Given the description of an element on the screen output the (x, y) to click on. 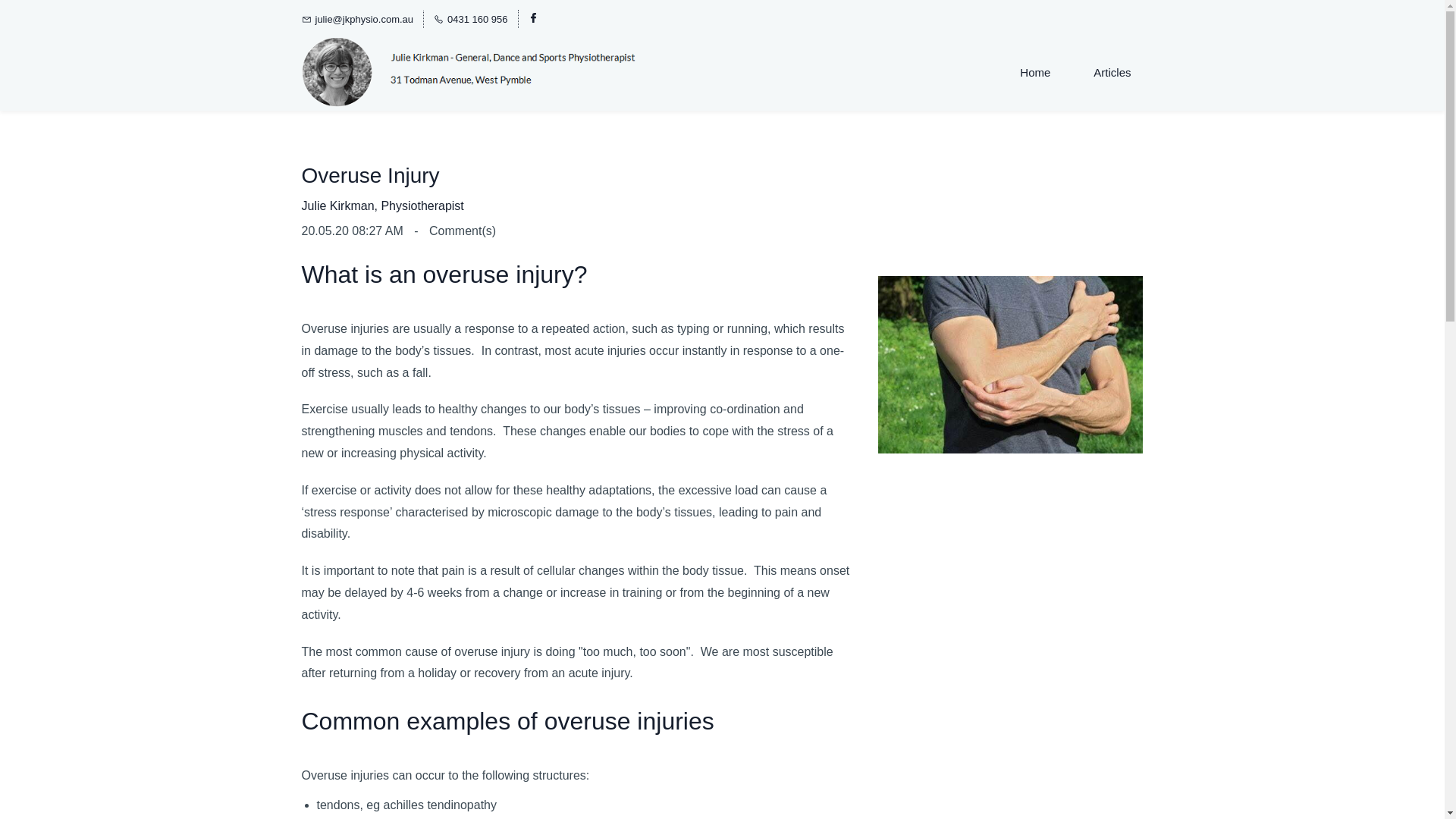
Julie Kirkman, Physiotherapist (382, 205)
0431 160 956 (470, 18)
Articles (1111, 72)
Home (1034, 72)
